Given the description of an element on the screen output the (x, y) to click on. 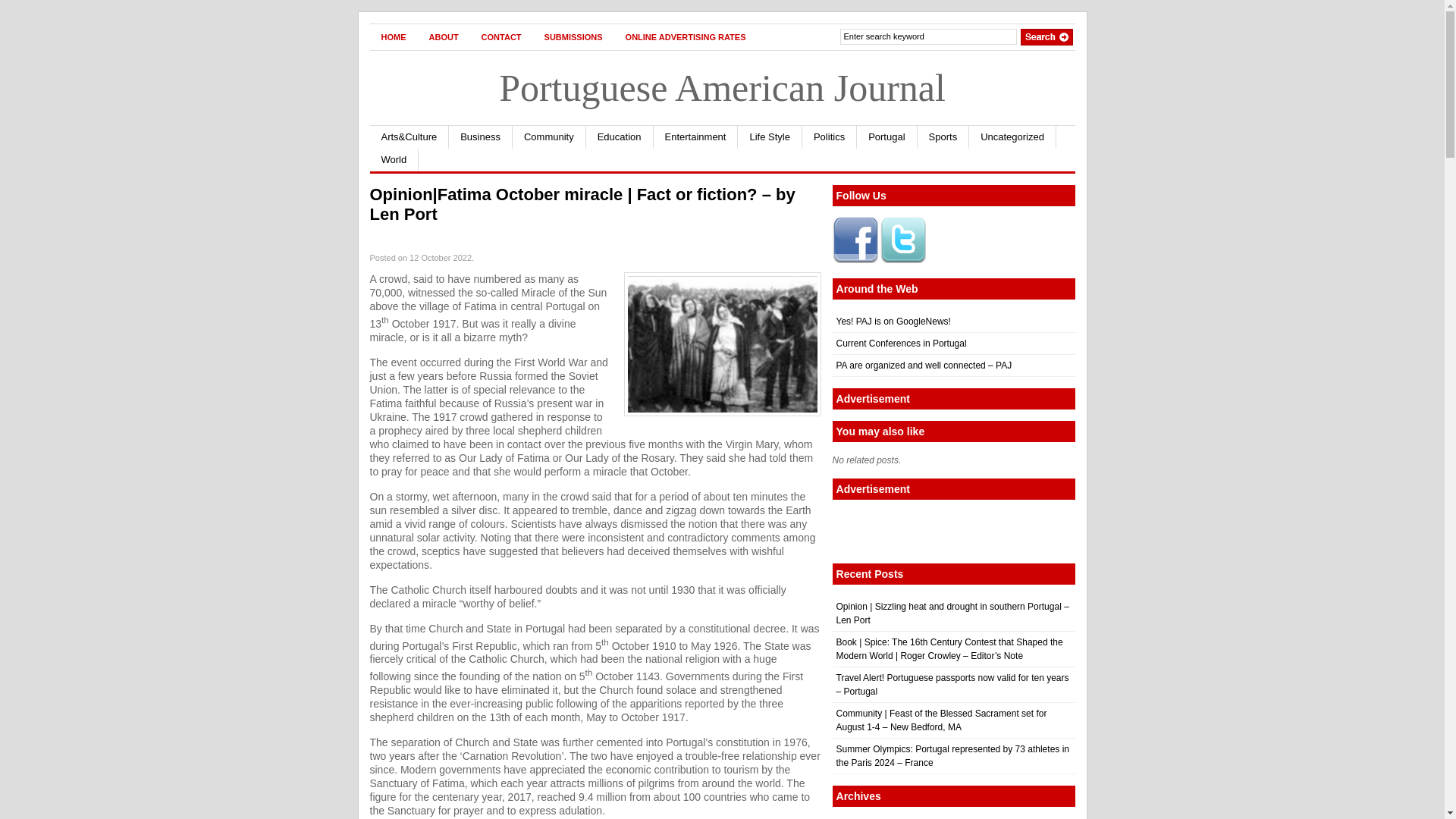
Life Style (770, 137)
Portugal (887, 137)
ABOUT (442, 36)
Business (480, 137)
Portuguese American Journal (721, 87)
SUBMISSIONS (573, 36)
Go (1046, 36)
Enter search keyword (928, 36)
CONTACT (501, 36)
ONLINE ADVERTISING RATES (685, 36)
